Given the description of an element on the screen output the (x, y) to click on. 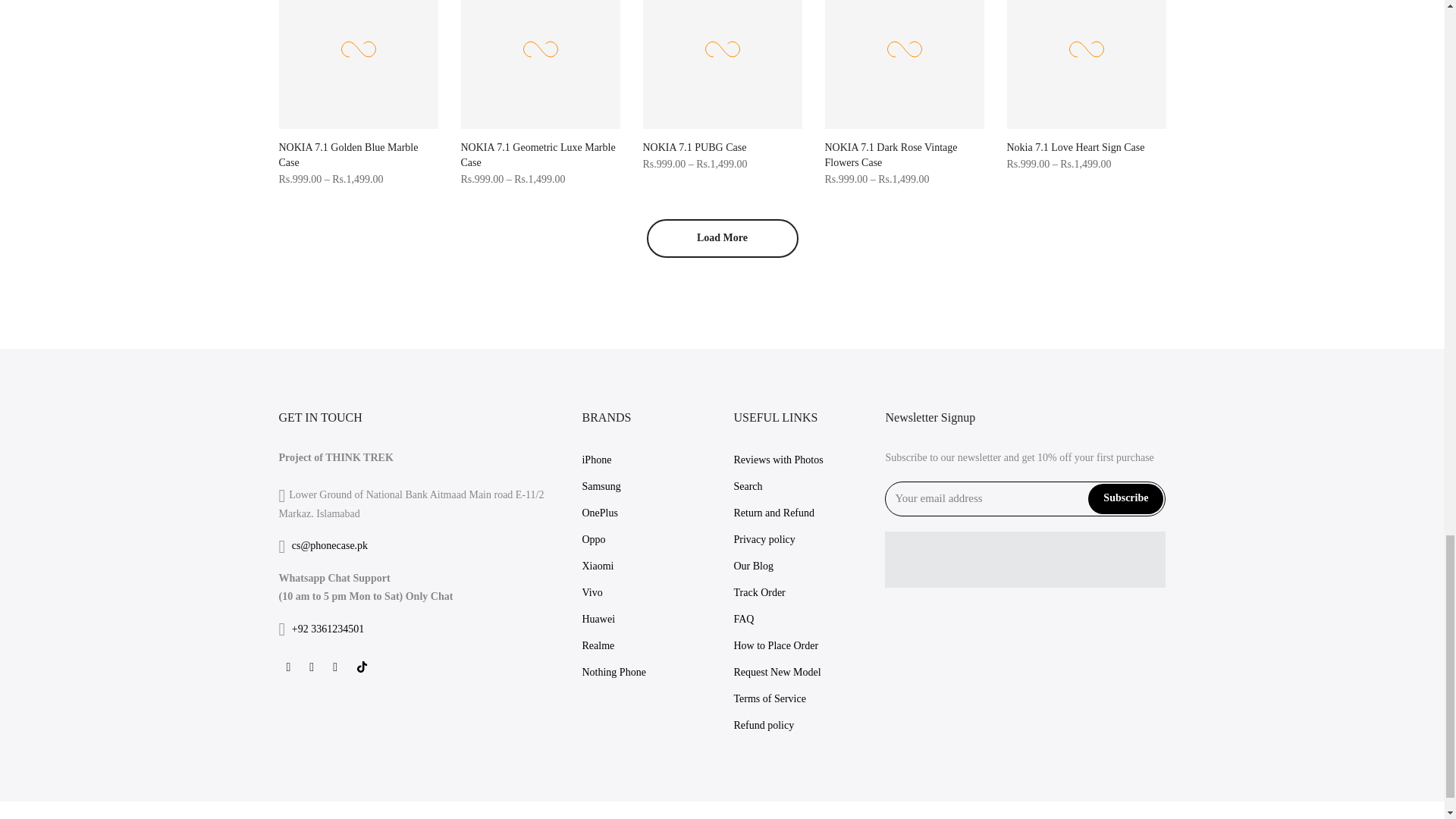
Load More (721, 238)
